Given the description of an element on the screen output the (x, y) to click on. 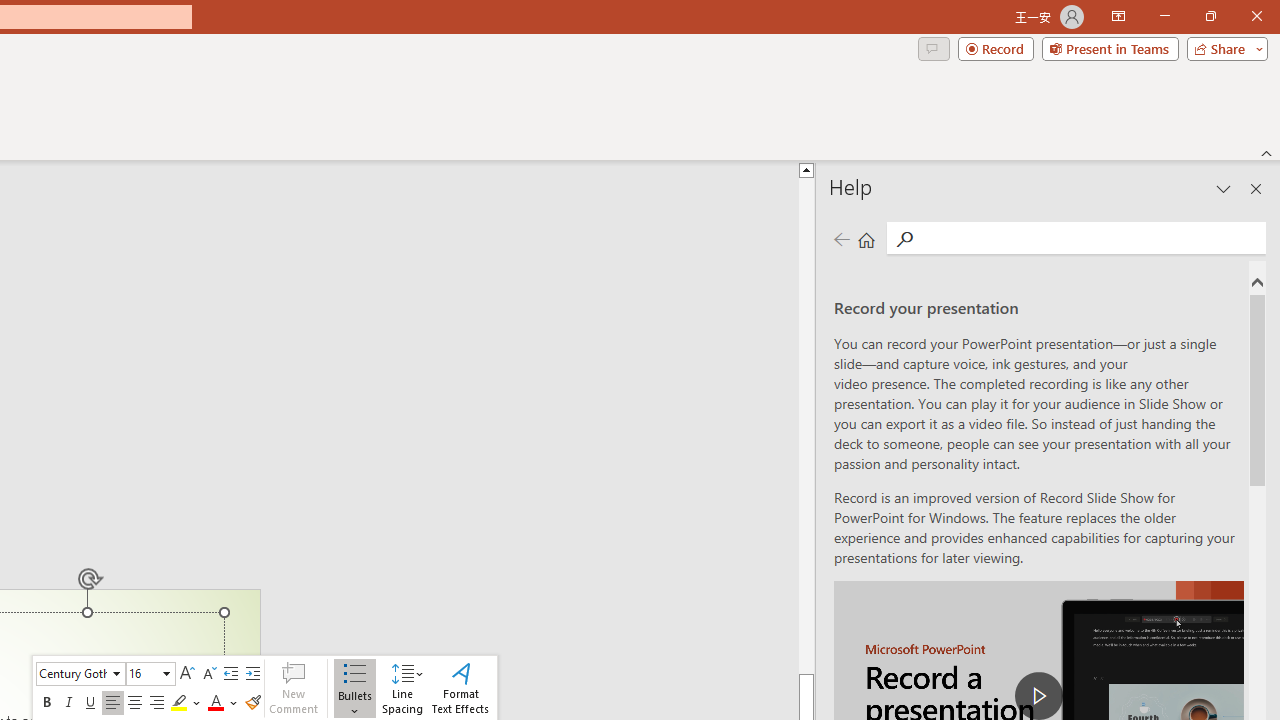
Previous page (841, 238)
Class: NetUIAnchor (402, 687)
Class: NetUIComboboxAnchor (150, 673)
play Record a Presentation (1038, 695)
